Given the description of an element on the screen output the (x, y) to click on. 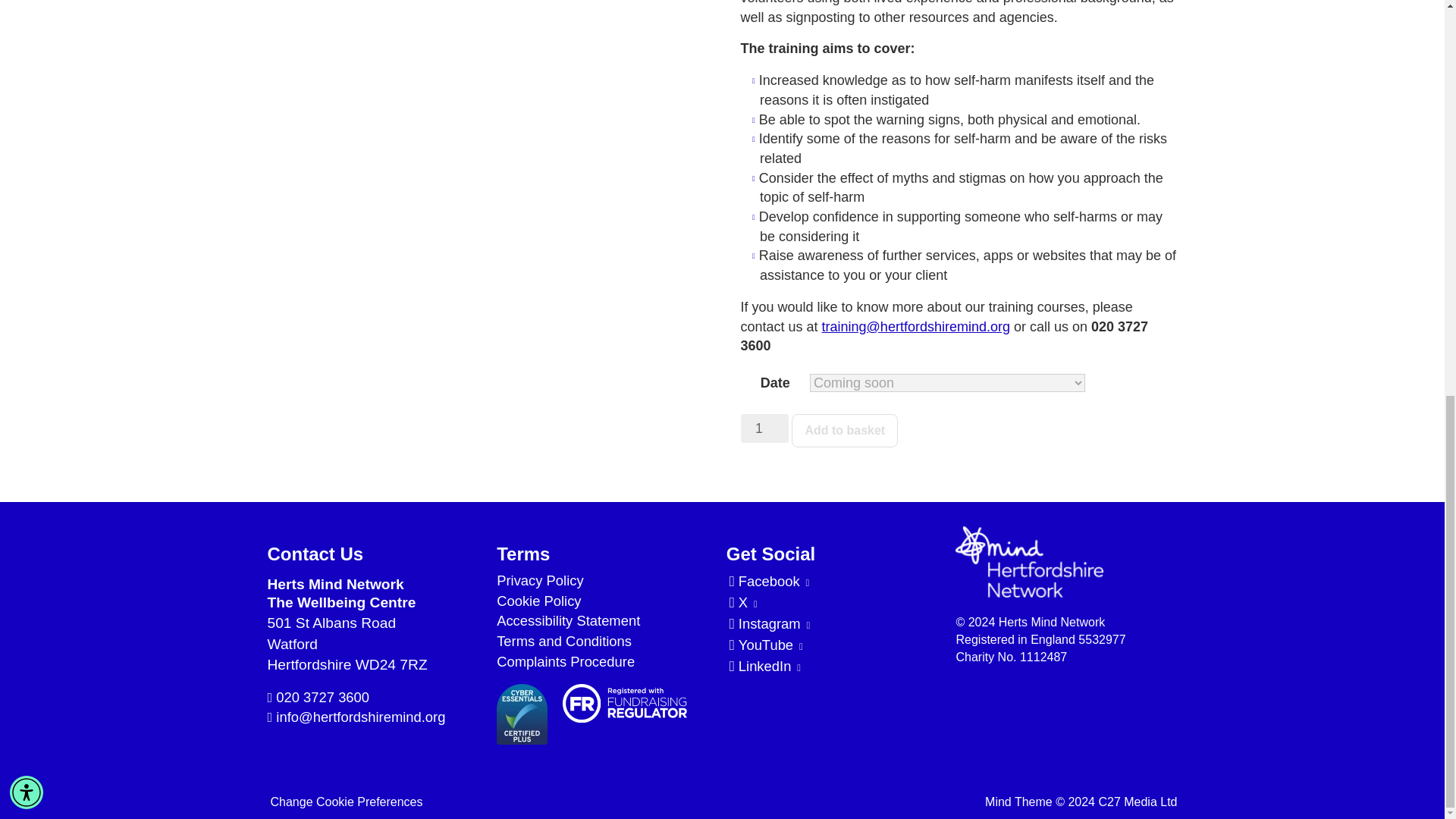
1 (764, 428)
Accessibility Menu (26, 28)
